Given the description of an element on the screen output the (x, y) to click on. 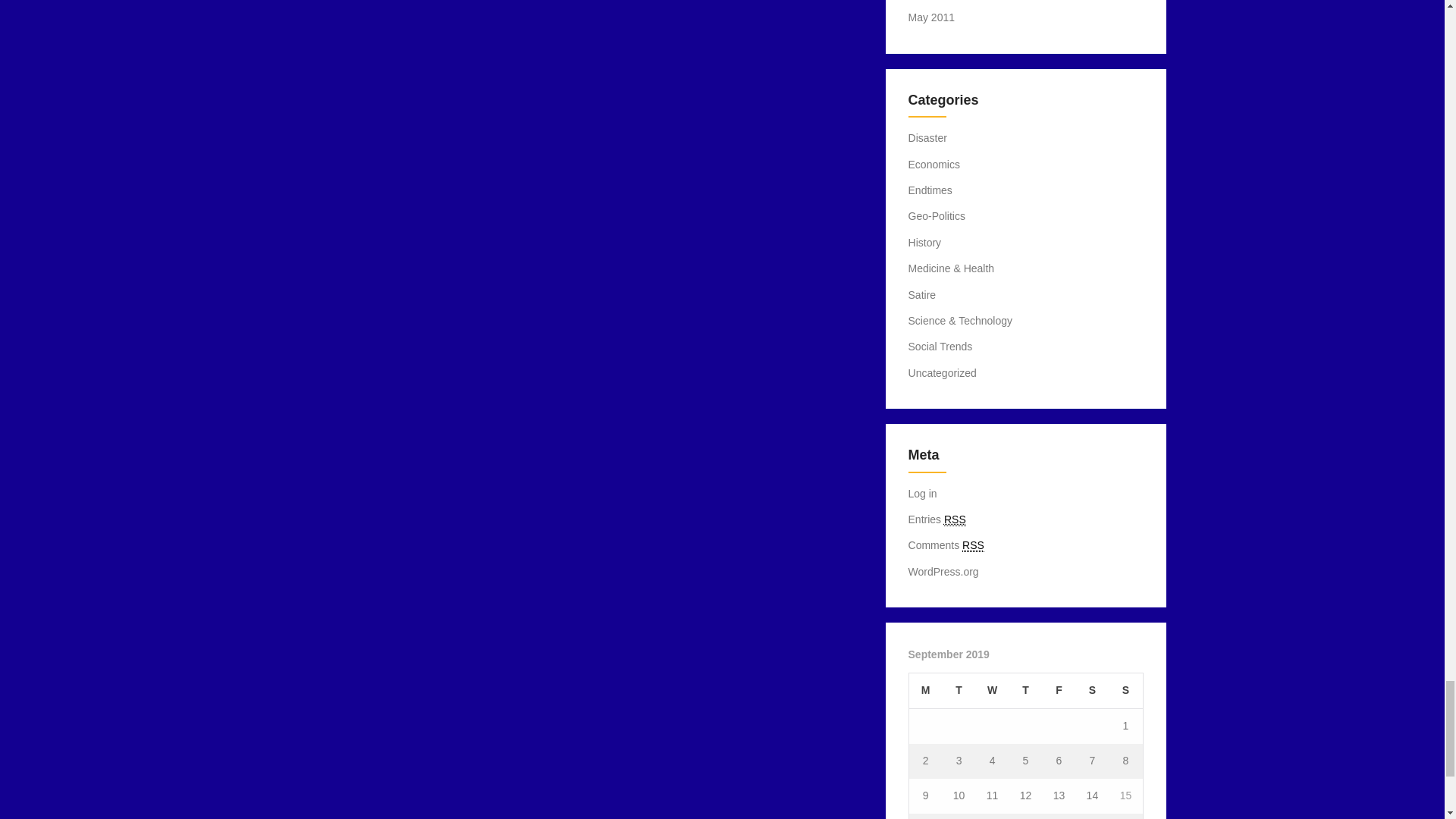
Sunday (1125, 691)
Thursday (1025, 691)
Tuesday (958, 691)
Friday (1058, 691)
Really Simple Syndication (954, 519)
Saturday (1091, 691)
Monday (925, 691)
Wednesday (992, 691)
Really Simple Syndication (973, 545)
